Given the description of an element on the screen output the (x, y) to click on. 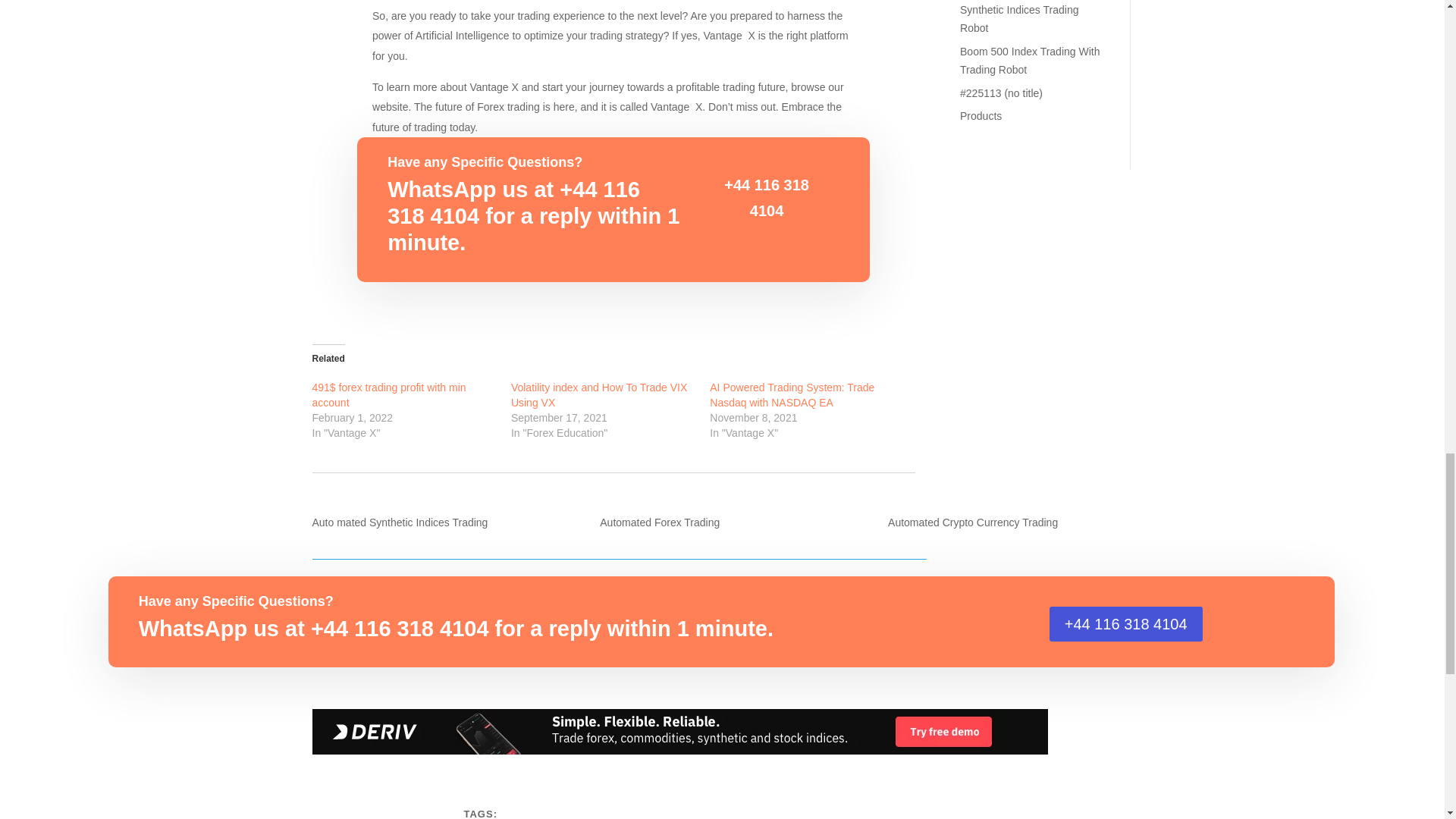
AI Powered Trading System: Trade Nasdaq with NASDAQ EA (792, 396)
Volatility index and How To Trade VIX Using VX (599, 396)
en001-970x60 (680, 731)
